Given the description of an element on the screen output the (x, y) to click on. 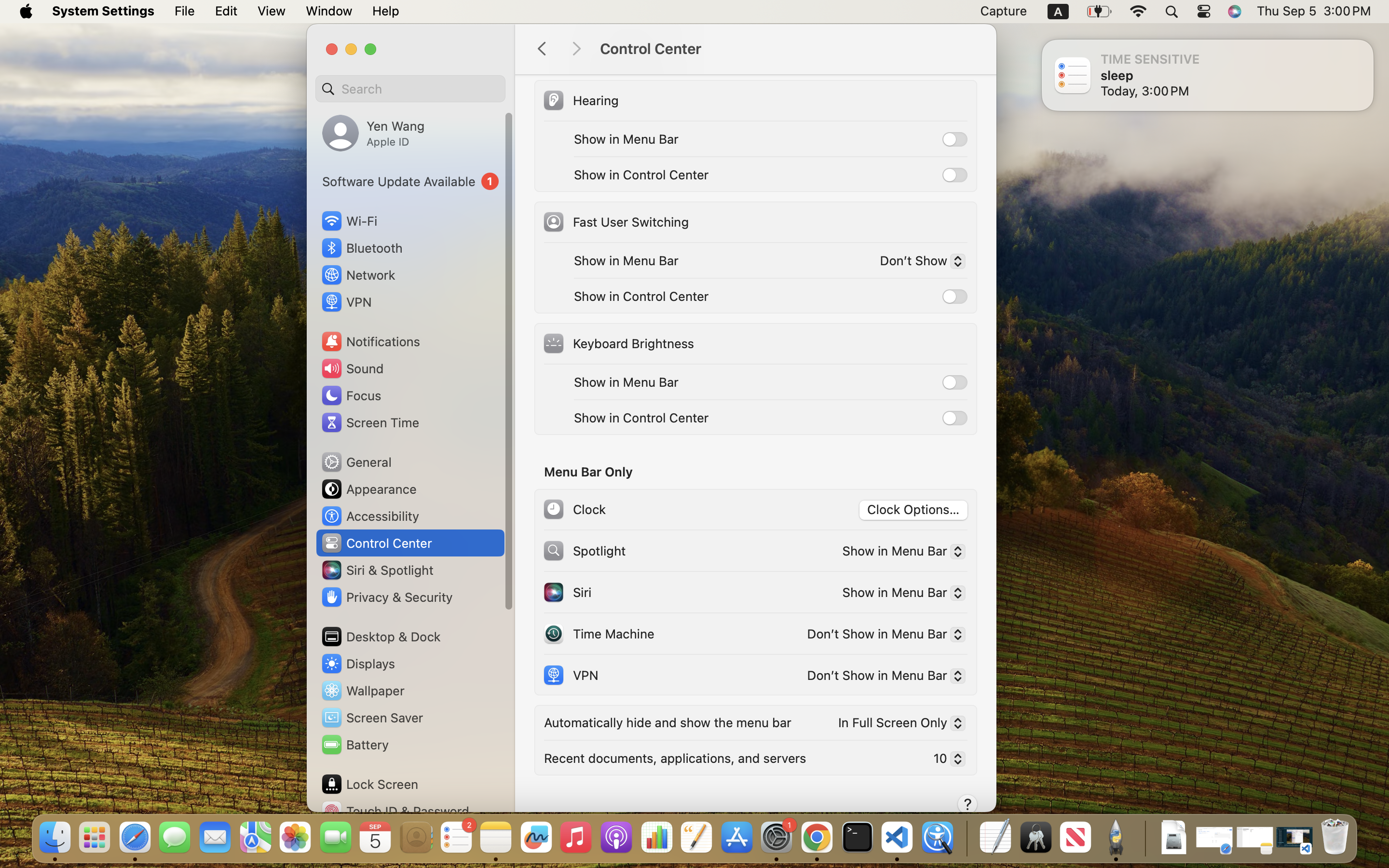
Focus Element type: AXStaticText (350, 394)
Keyboard Brightness Element type: AXStaticText (618, 342)
